Given the description of an element on the screen output the (x, y) to click on. 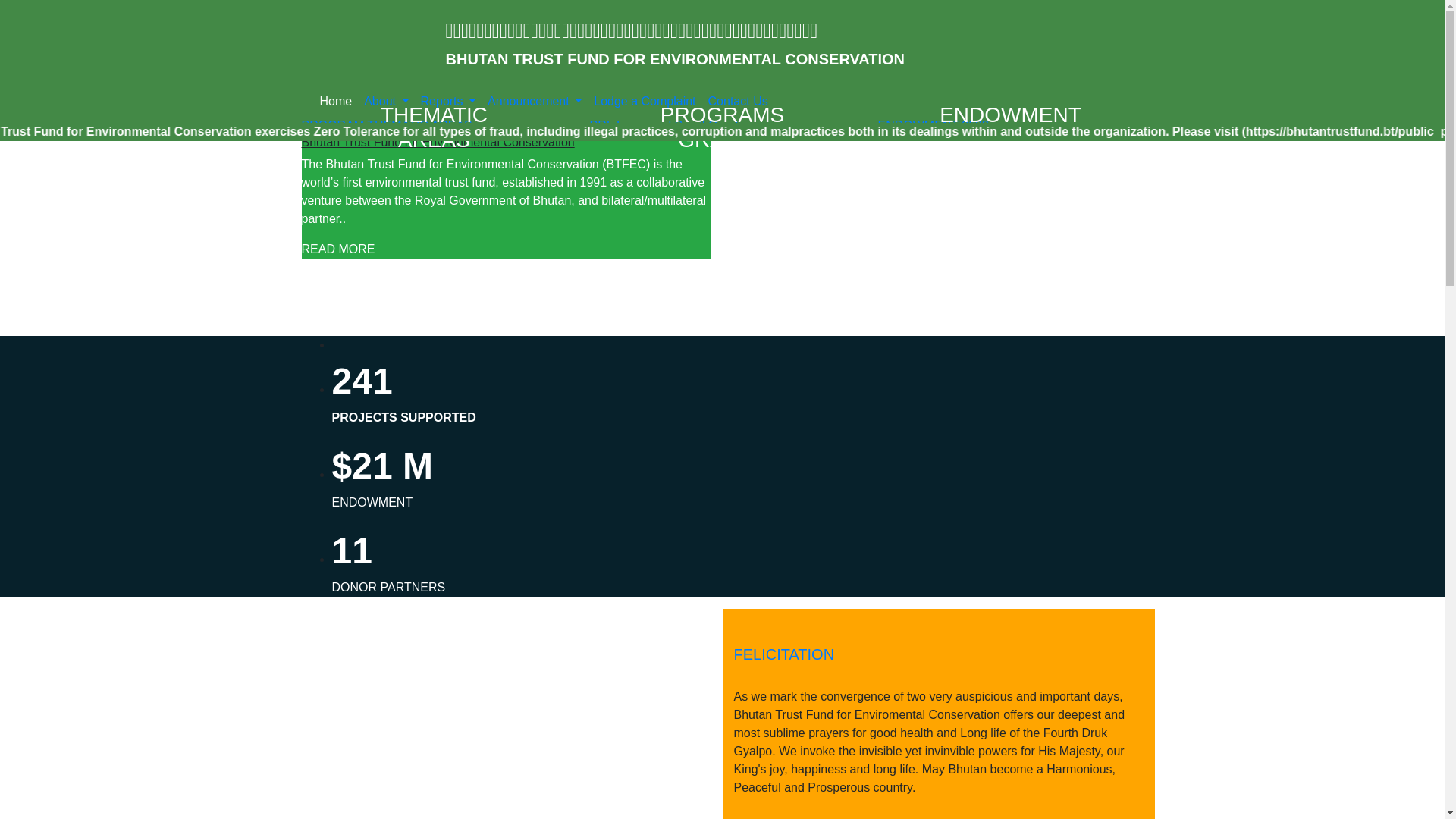
Contact Us Element type: text (738, 101)
Lodge a Complaint Element type: text (644, 101)
Home Element type: text (335, 101)
ENDOWMENT 2023 Element type: text (935, 125)
PRI, Large and Small Grants Element type: text (668, 125)
PROGRAM THEMATIC AREAS Element type: text (388, 125)
About Element type: text (385, 101)
READ MORE Element type: text (338, 248)
Announcement Element type: text (534, 101)
Reports Element type: text (448, 101)
FELICITATION Element type: text (784, 654)
